Given the description of an element on the screen output the (x, y) to click on. 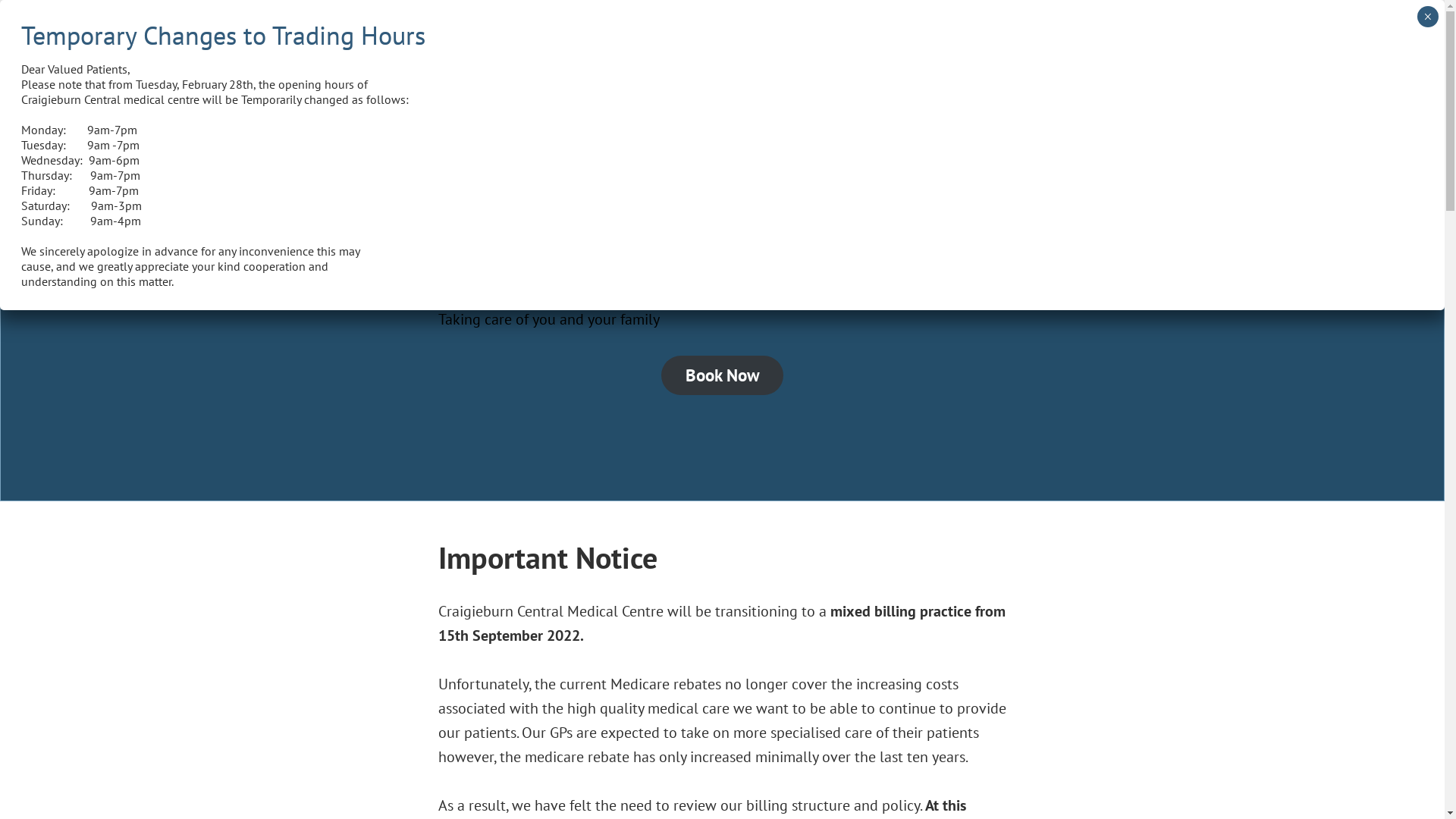
Contact Us Element type: text (976, 46)
Our Team Element type: text (895, 46)
Book Now Element type: text (722, 374)
Craigieburn Central Medical Centre Element type: text (538, 98)
Home Element type: text (768, 46)
Our Policies Element type: text (1066, 46)
Services Element type: text (826, 46)
Facebook Element type: text (1094, 90)
